Given the description of an element on the screen output the (x, y) to click on. 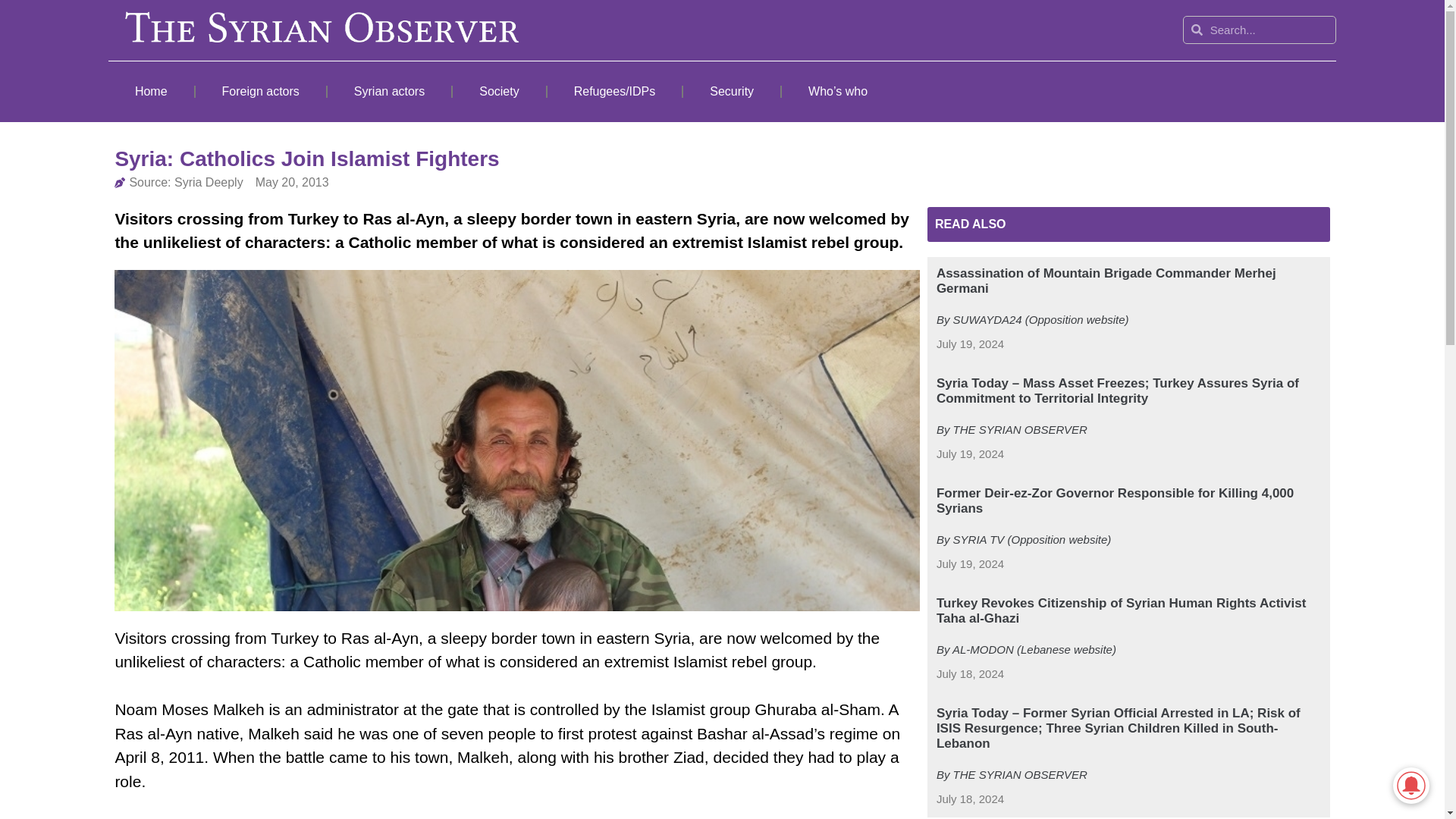
July 18, 2024 (970, 674)
July 19, 2024 (970, 454)
Syrian actors (389, 91)
July 19, 2024 (970, 343)
Security (731, 91)
July 18, 2024 (970, 799)
July 19, 2024 (970, 564)
Assassination of Mountain Brigade Commander Merhej Germani (1106, 280)
Society (498, 91)
Foreign actors (260, 91)
Home (150, 91)
